Given the description of an element on the screen output the (x, y) to click on. 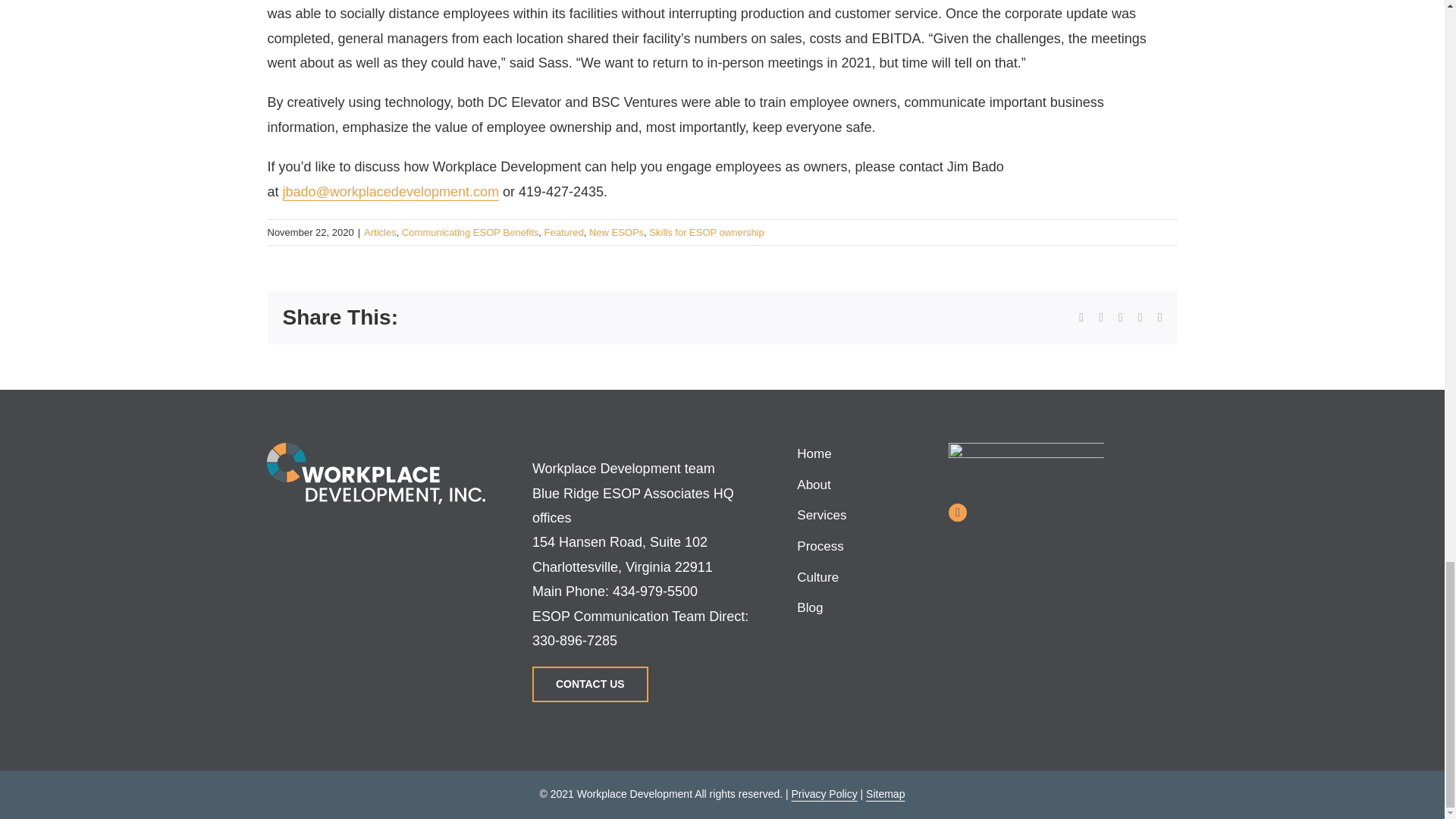
About (854, 485)
Home (854, 454)
CONTACT US (589, 683)
LinkedIn (957, 512)
Featured (563, 232)
New ESOPs (616, 232)
Articles (380, 232)
Skills for ESOP ownership (706, 232)
Services (854, 515)
Communicating ESOP Benefits (469, 232)
